Given the description of an element on the screen output the (x, y) to click on. 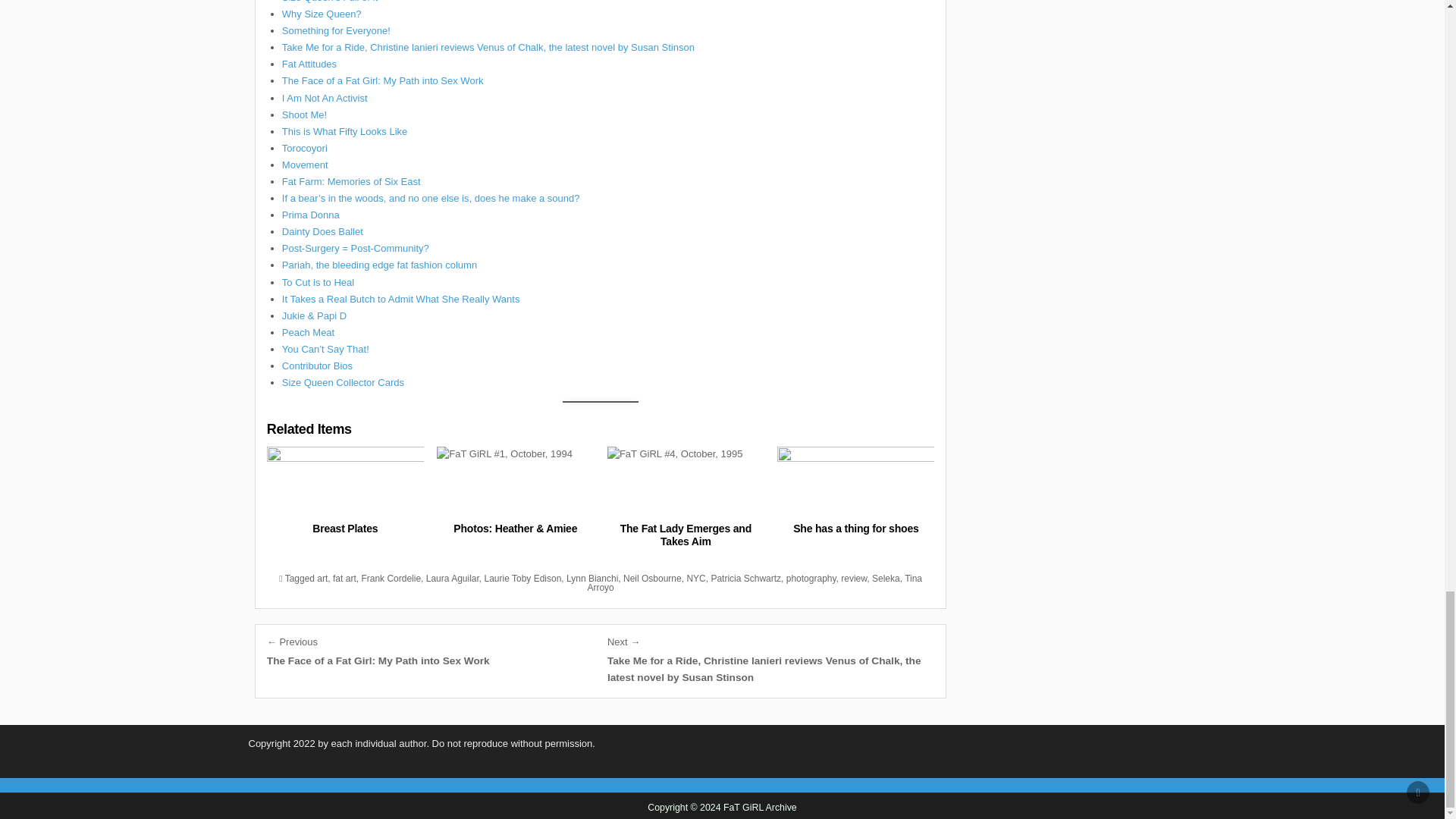
Permanent Link to She has a thing for shoes (855, 528)
Permanent Link to Breast Plates (344, 482)
Permanent Link to The Fat Lady Emerges and Takes Aim (685, 482)
Permanent Link to She has a thing for shoes (855, 482)
Permanent Link to Breast Plates (345, 528)
Why Size Queen? (321, 13)
Fat Attitudes (309, 63)
Permanent Link to The Fat Lady Emerges and Takes Aim (685, 534)
Something for Everyone! (336, 30)
